Given the description of an element on the screen output the (x, y) to click on. 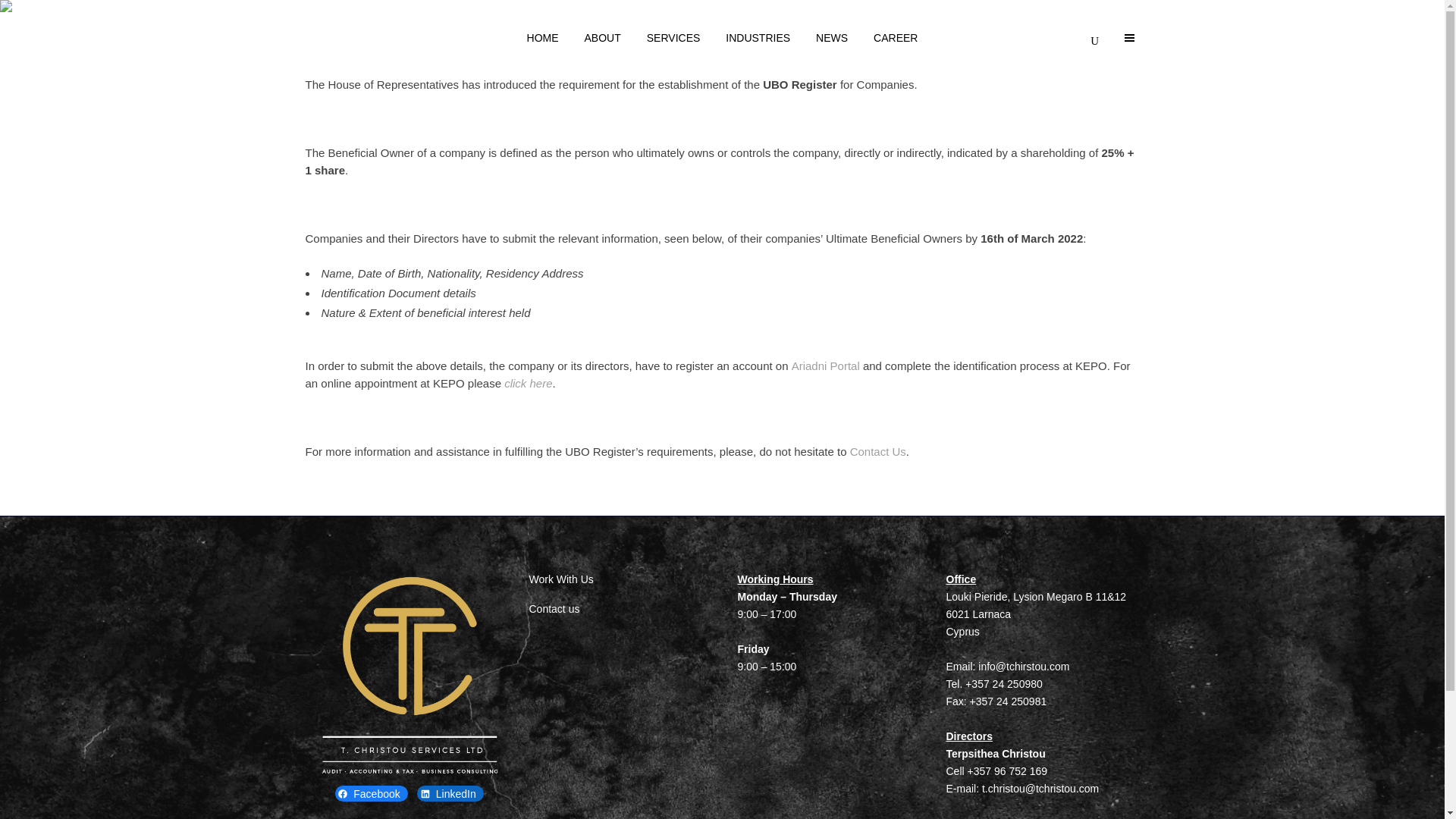
SERVICES (673, 38)
CAREER (895, 38)
INDUSTRIES (758, 38)
